Given the description of an element on the screen output the (x, y) to click on. 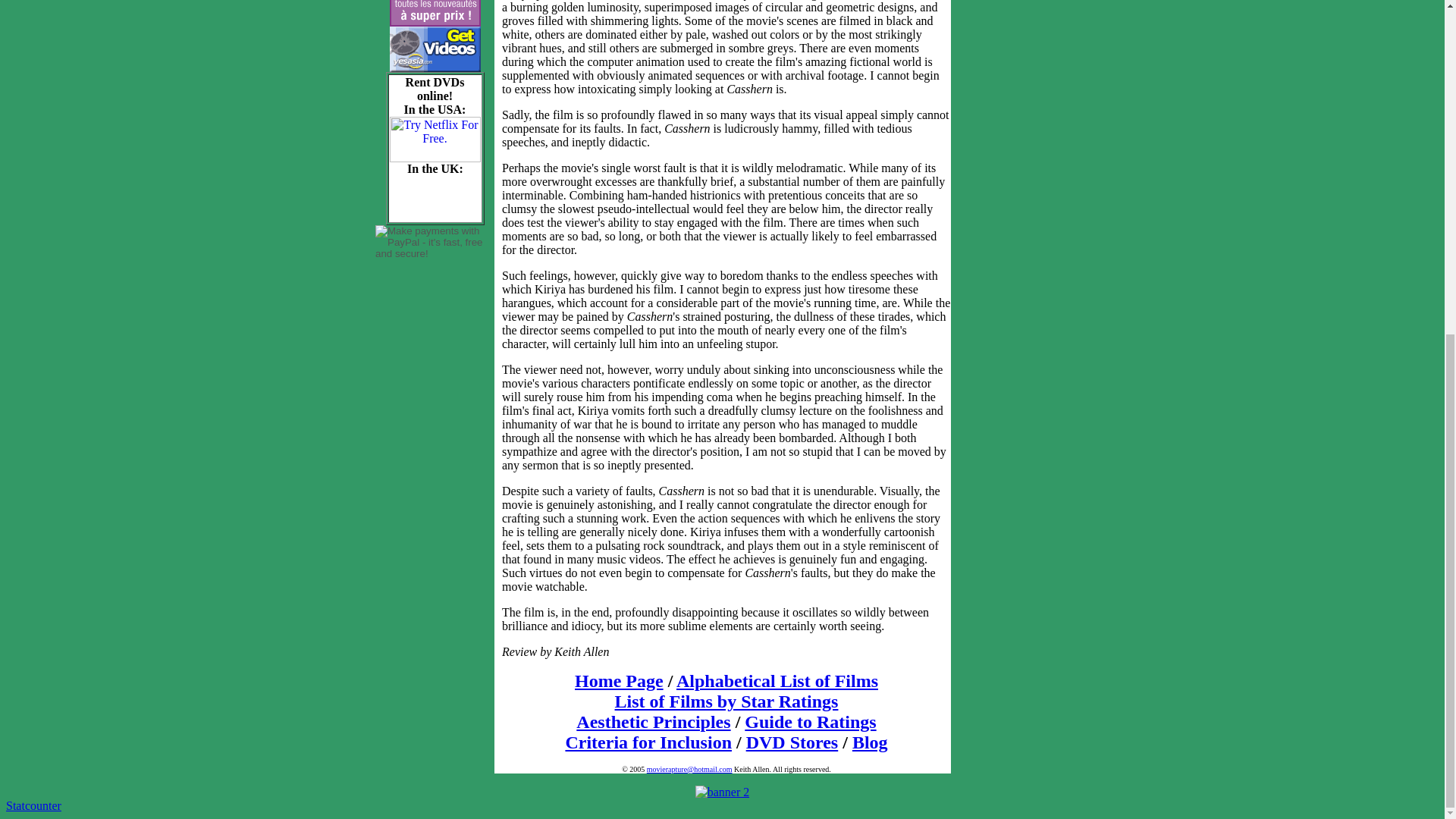
Home Page (619, 680)
DVD Stores (791, 742)
Aesthetic Principles (653, 721)
Guide to Ratings (810, 721)
Criteria for Inclusion (648, 742)
Blog (869, 742)
List of Films by Star Ratings (726, 701)
Alphabetical List of Films (777, 680)
Statcounter (33, 805)
